Given the description of an element on the screen output the (x, y) to click on. 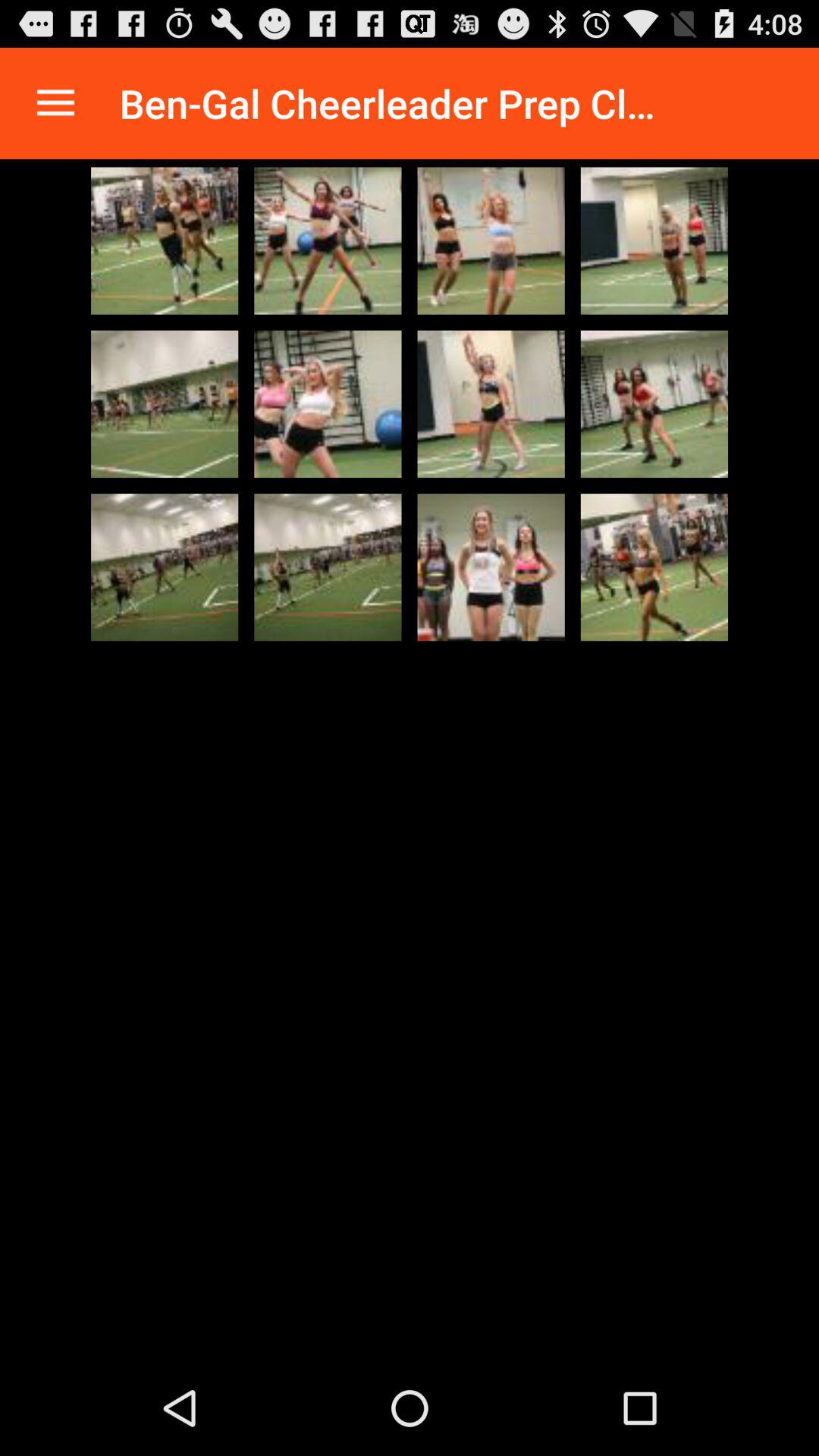
expand picture (164, 566)
